Given the description of an element on the screen output the (x, y) to click on. 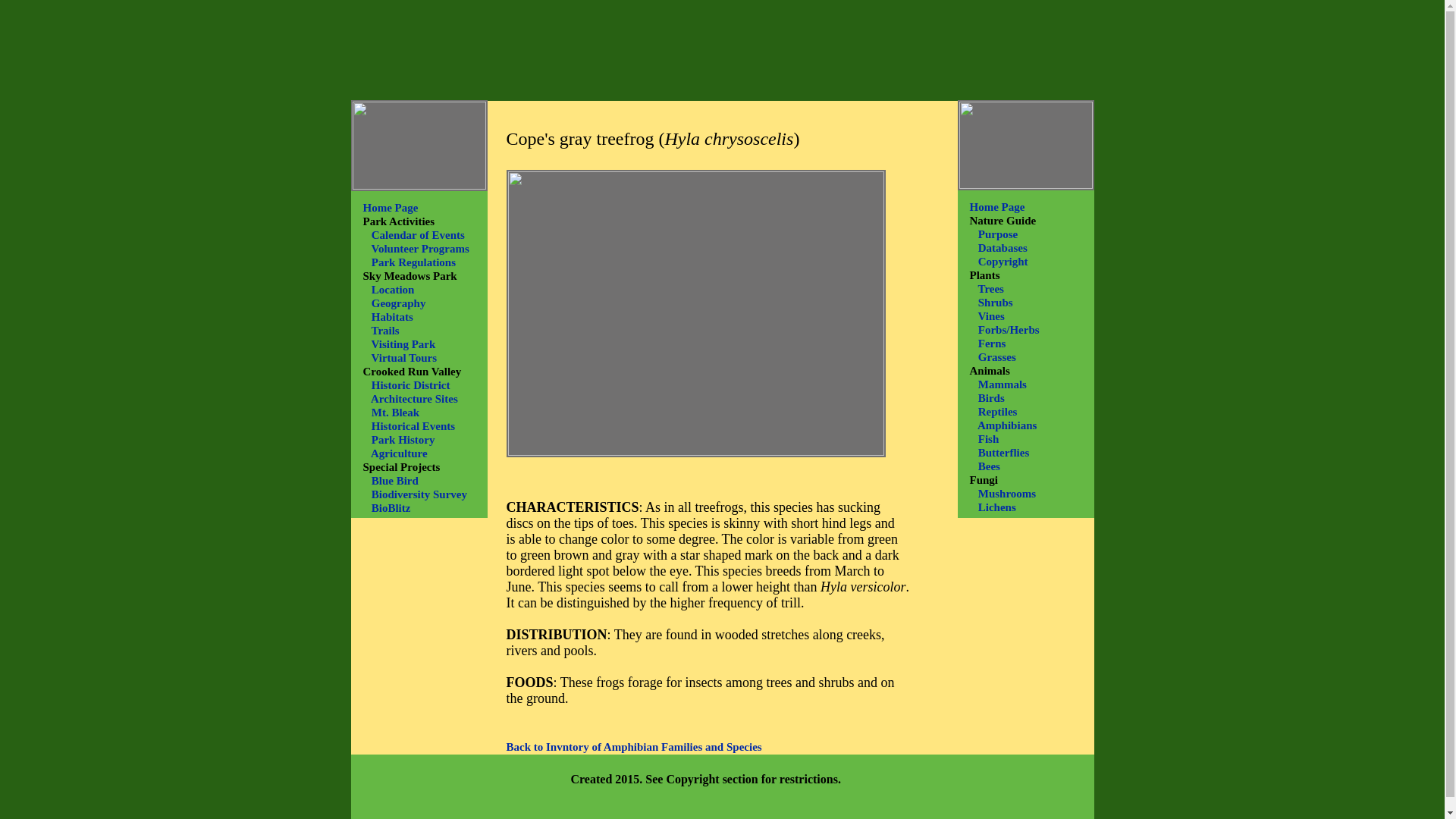
Amphibians (1006, 425)
Habitats (392, 316)
Bees (989, 466)
Grasses (997, 357)
Fish (988, 439)
Trails (384, 330)
Blue Bird (395, 480)
Copyright (1002, 261)
Home Page (389, 206)
Birds (991, 398)
